Given the description of an element on the screen output the (x, y) to click on. 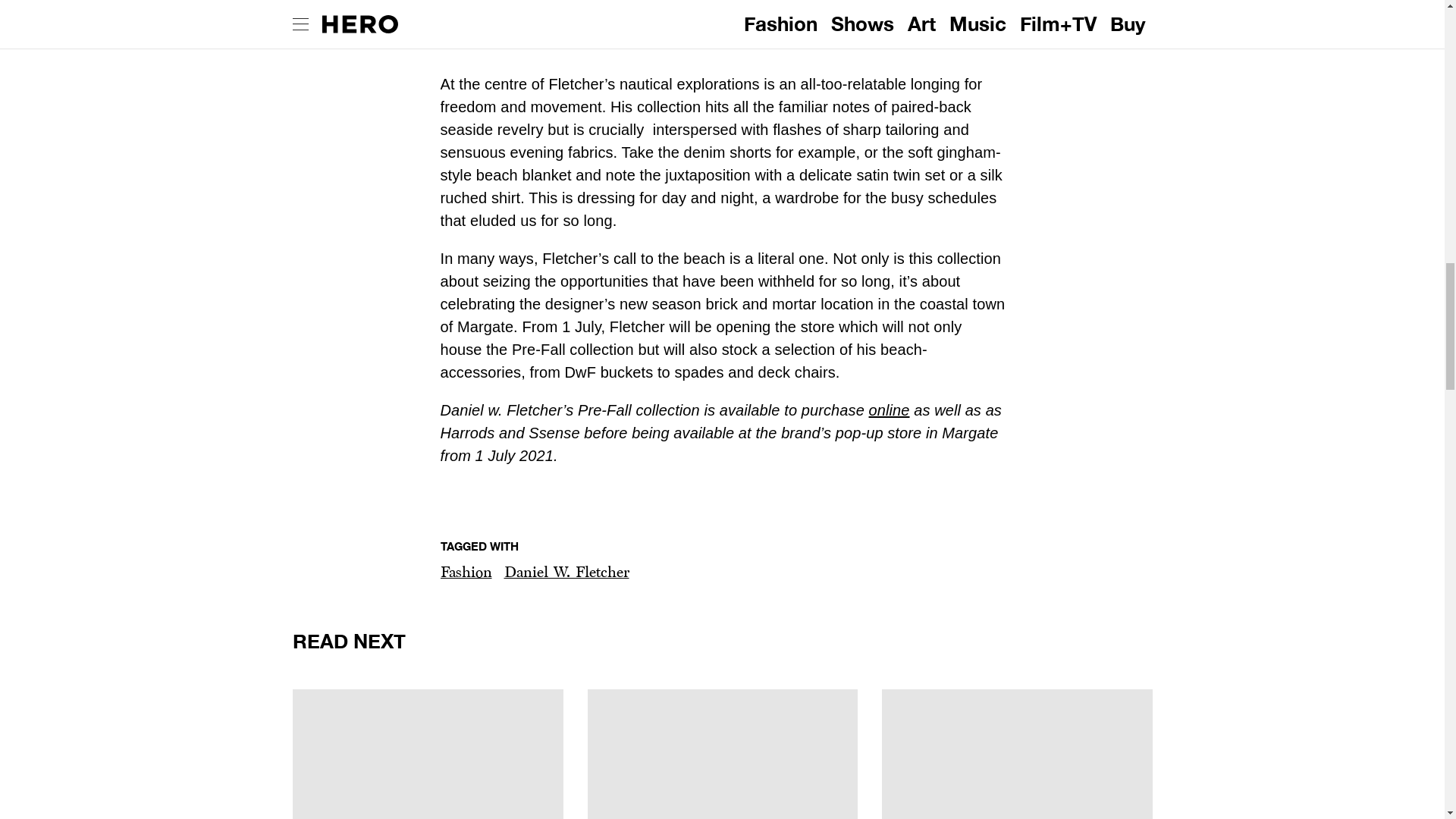
online (887, 410)
Daniel W. Fletcher (427, 754)
Fashion (565, 571)
